Given the description of an element on the screen output the (x, y) to click on. 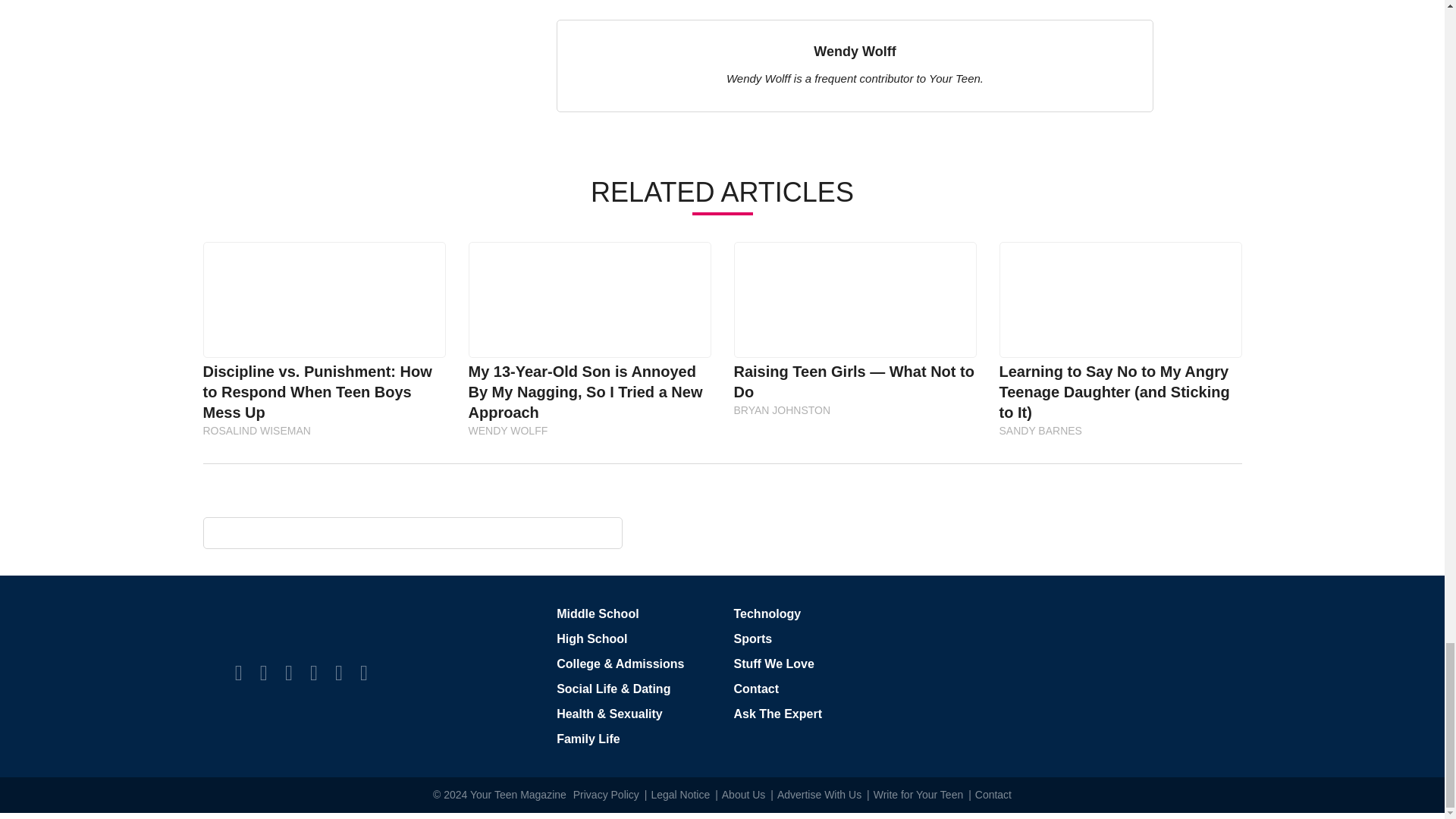
Your Teen Podcast (363, 672)
Twitter (263, 672)
Instagram (288, 672)
Pinterest (313, 672)
Facebook (238, 672)
YouTube (338, 672)
